Given the description of an element on the screen output the (x, y) to click on. 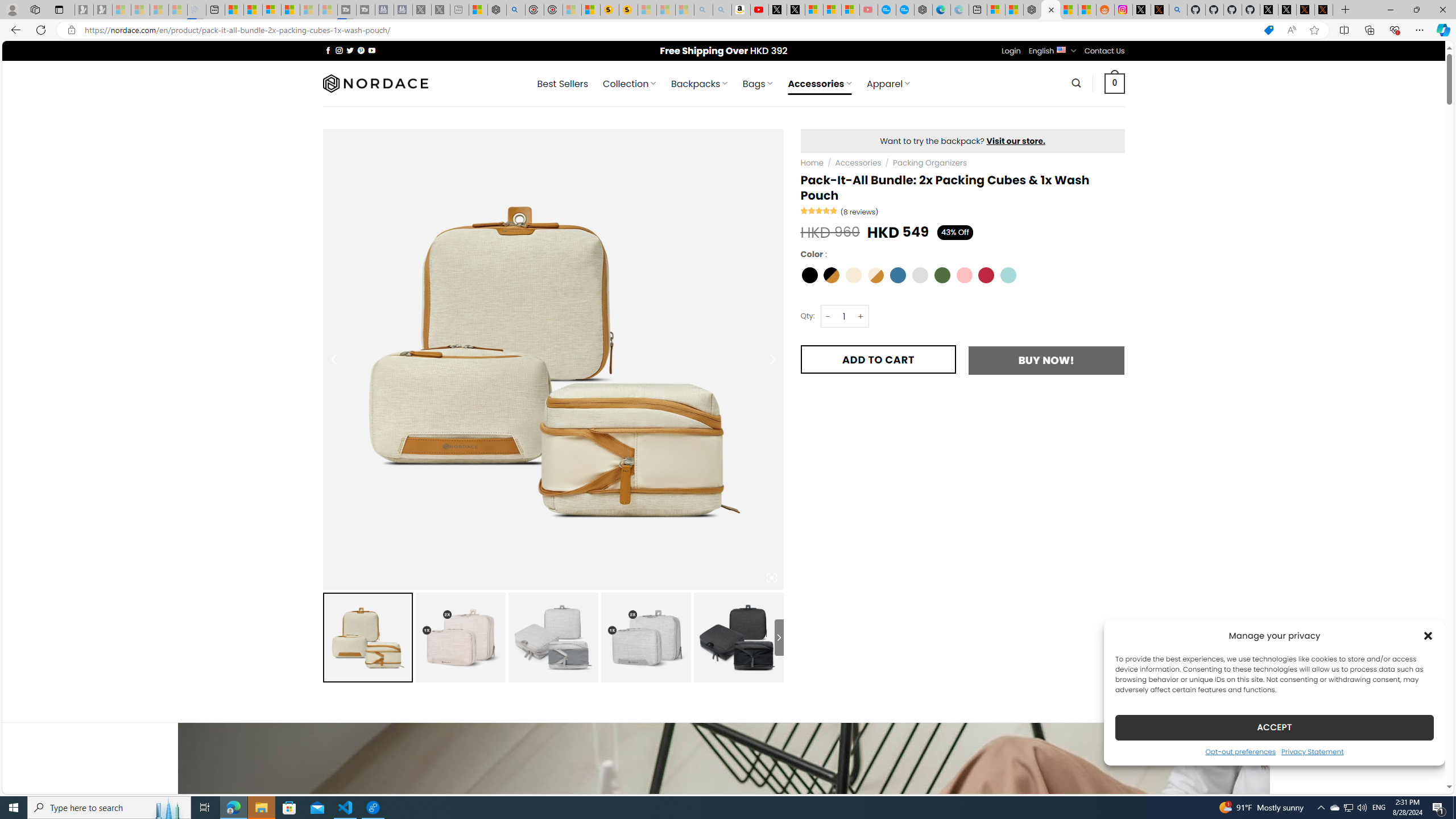
Follow on Facebook (327, 49)
Nordace - Summer Adventures 2024 (497, 9)
Follow on Instagram (338, 49)
Opt-out preferences (1240, 750)
Overview (271, 9)
BUY NOW! (1046, 360)
Pack-It-All Bundle: 2x Packing Cubes & 1x Wash Pouch (738, 637)
